Given the description of an element on the screen output the (x, y) to click on. 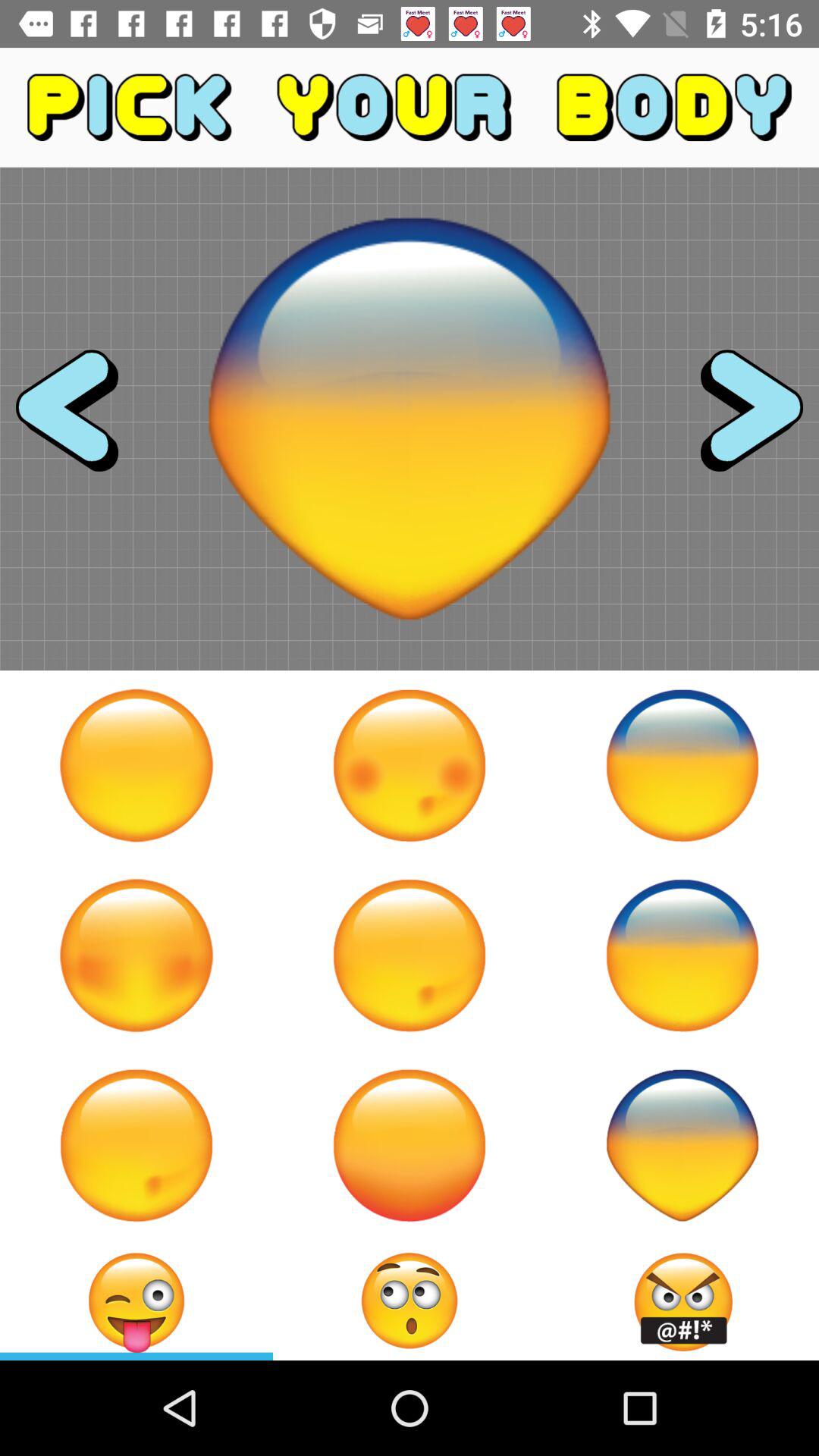
toggle to current body type (136, 1300)
